Given the description of an element on the screen output the (x, y) to click on. 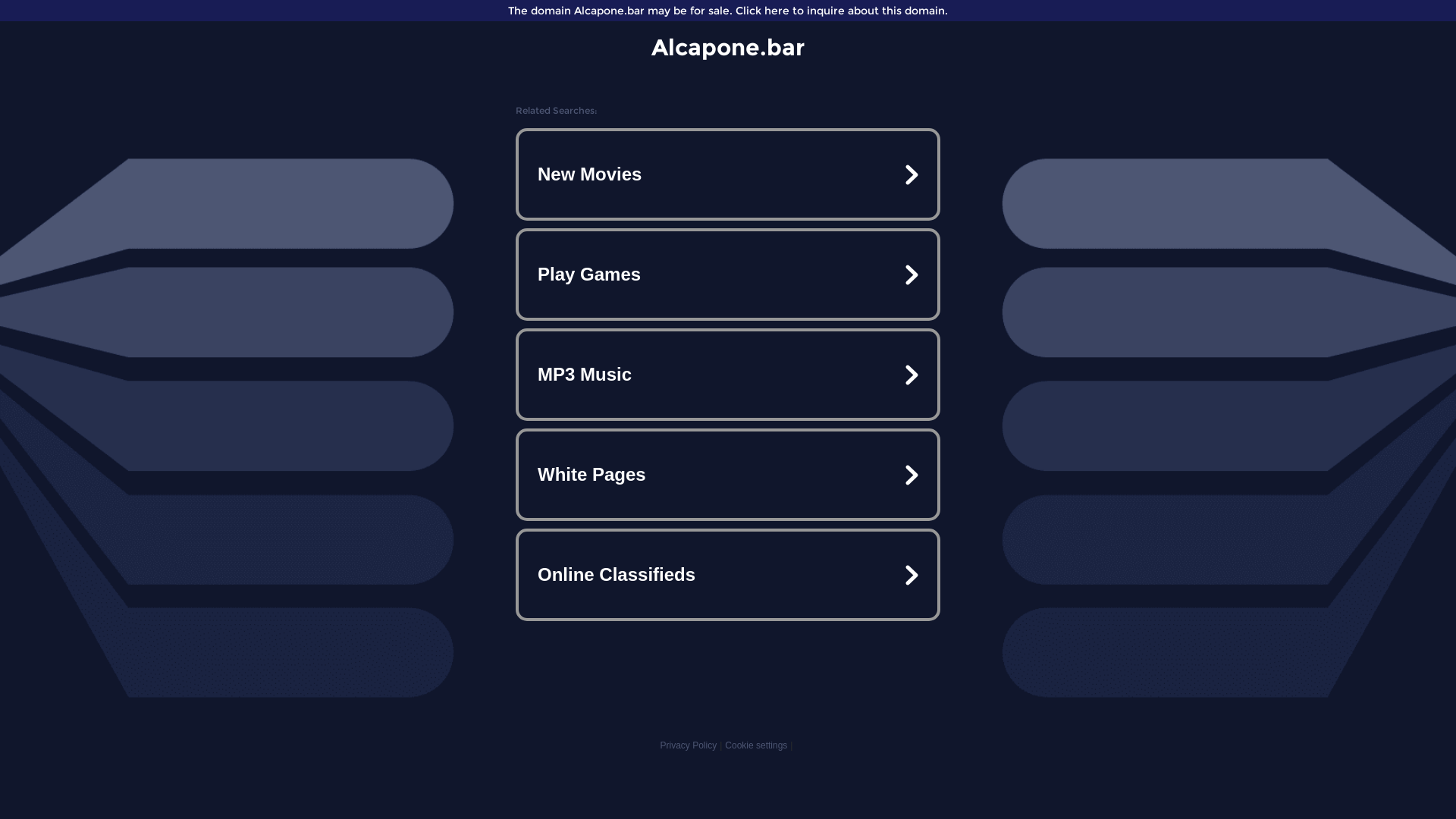
MP3 Music Element type: text (727, 374)
Cookie settings Element type: text (755, 745)
Alcapone.bar Element type: text (727, 47)
New Movies Element type: text (727, 174)
Online Classifieds Element type: text (727, 574)
White Pages Element type: text (727, 474)
Privacy Policy Element type: text (687, 745)
Play Games Element type: text (727, 274)
